Given the description of an element on the screen output the (x, y) to click on. 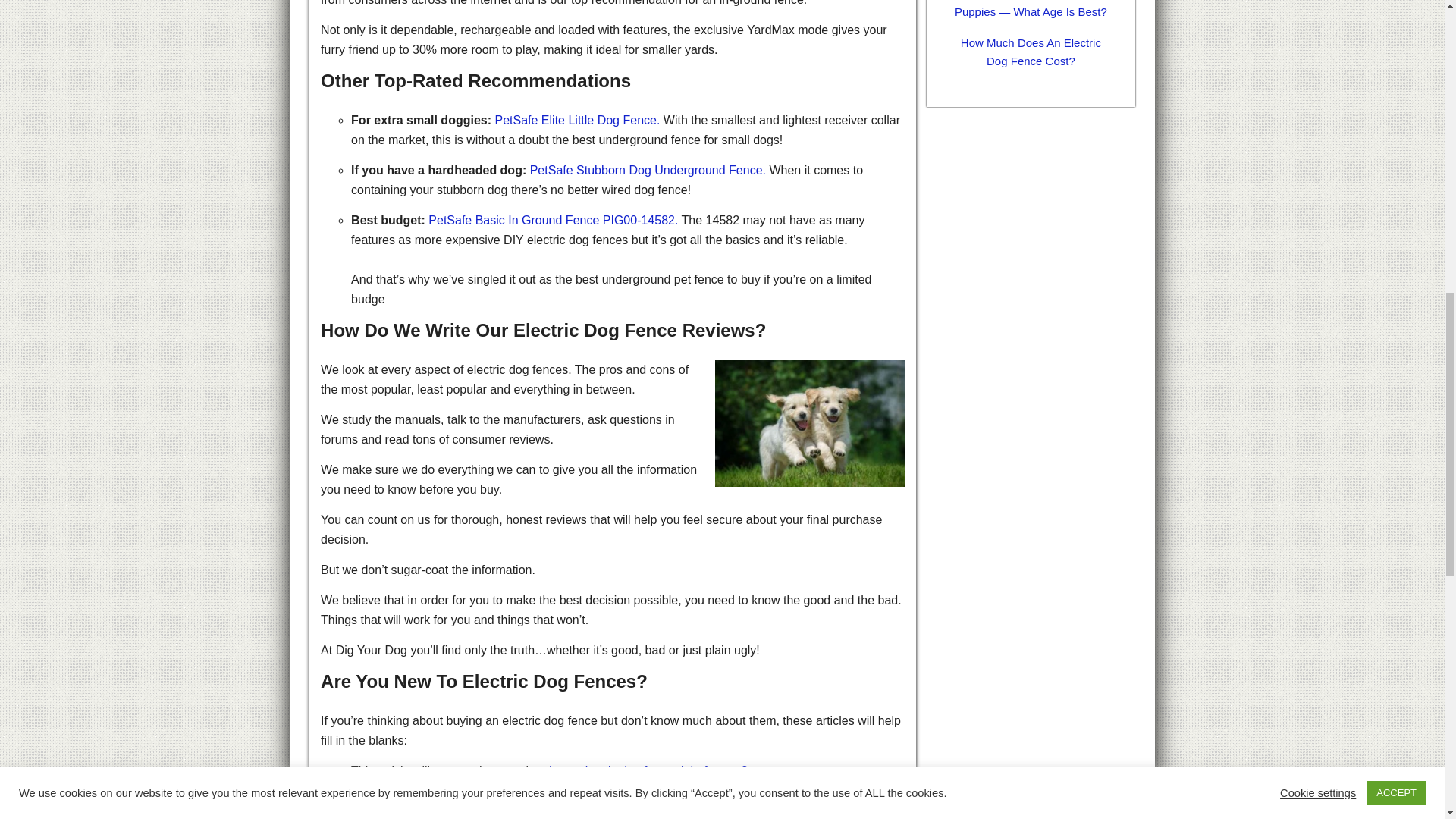
PetSafe Basic In Ground Fence PIG00-14582. (553, 219)
PetSafe Stubborn Dog In-Ground Fence Review (647, 169)
the costs of an electric dog fence. (666, 800)
PetSafe Elite Little Dog Fence. (577, 119)
PetSafe Stubborn Dog Underground Fence. (647, 169)
PetSafe Elite Little Dog In-Ground Fence Review (577, 119)
How Much Does An Electric Dog Fence Cost? (1030, 51)
Is an electric dog fence right for you? (648, 770)
